Given the description of an element on the screen output the (x, y) to click on. 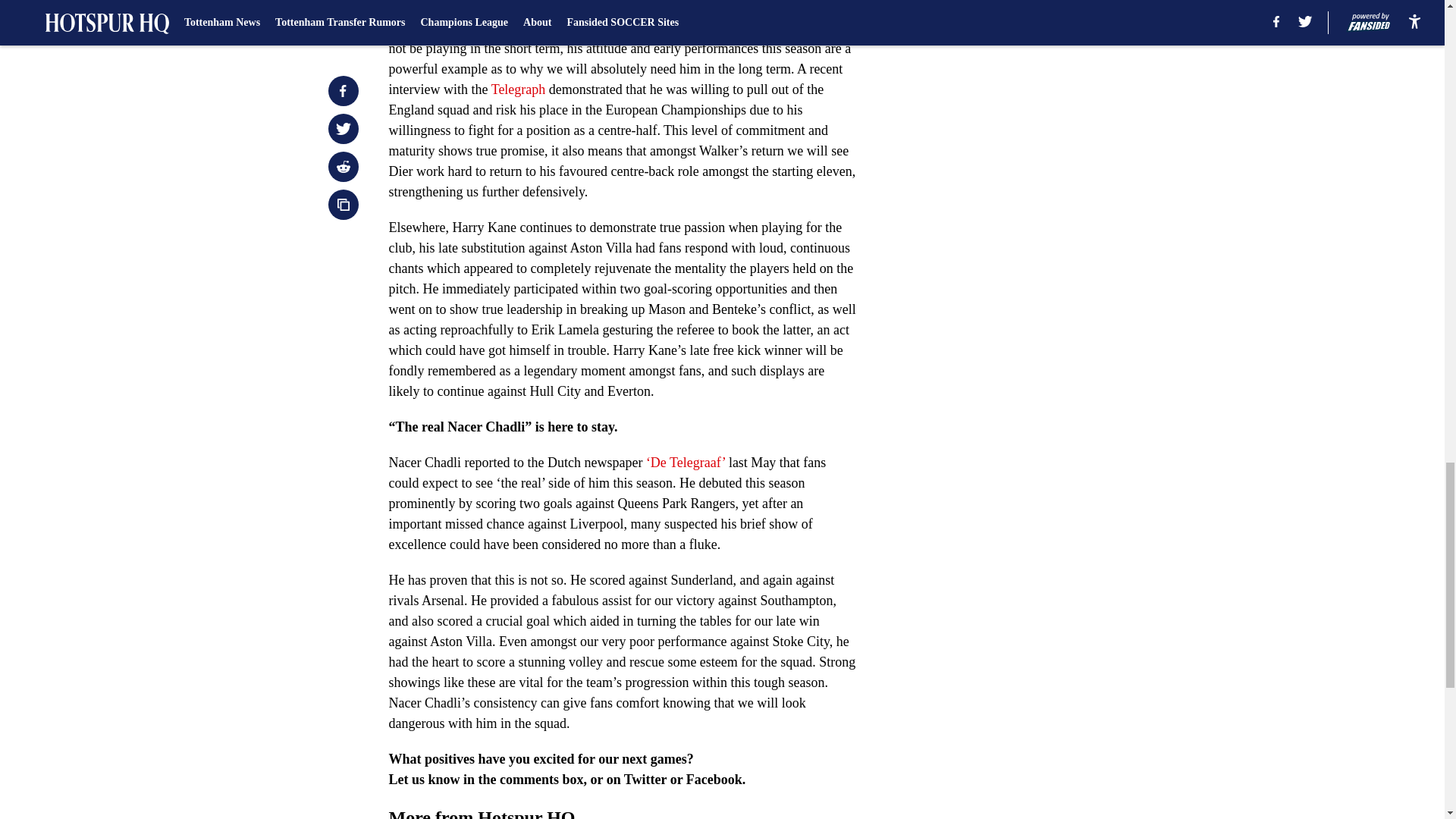
Telegraph (519, 89)
